Given the description of an element on the screen output the (x, y) to click on. 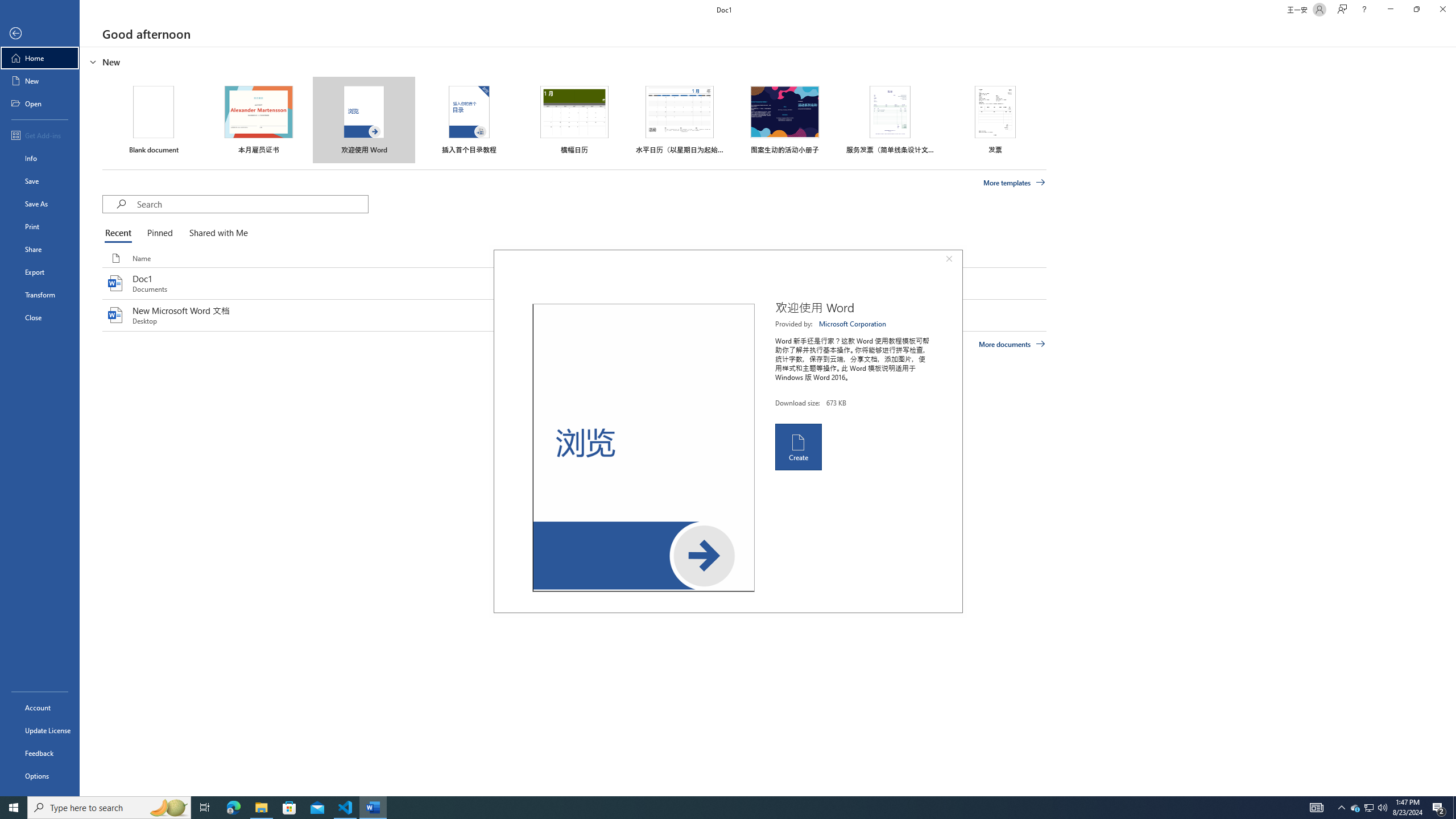
Shared with Me (215, 233)
More documents (1011, 343)
New (40, 80)
Recent (119, 233)
Export (40, 271)
Microsoft Corporation (853, 323)
Print (40, 225)
Pin this item to the list (739, 314)
Back (40, 33)
